Given the description of an element on the screen output the (x, y) to click on. 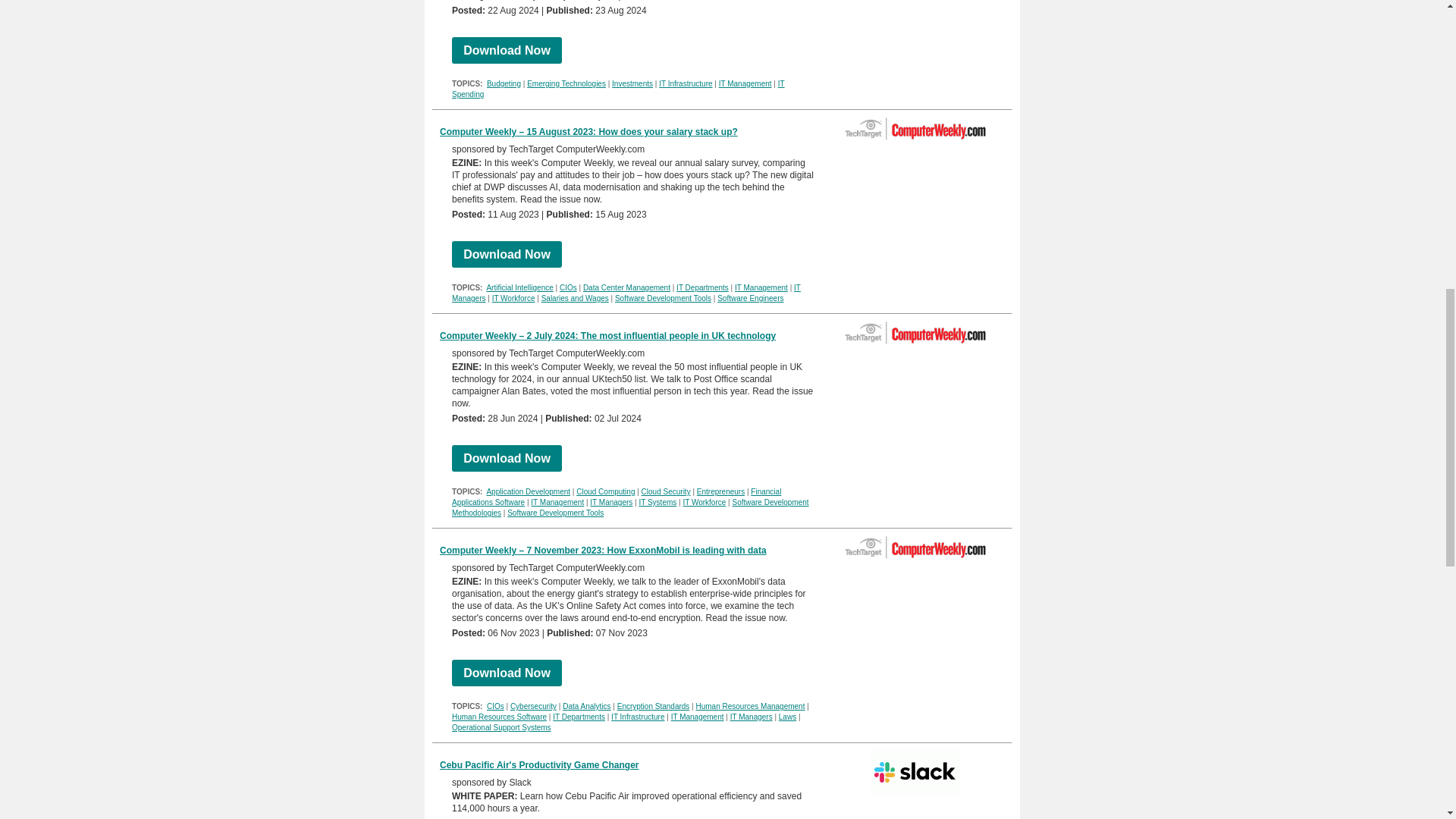
IT Management (745, 83)
Emerging Technologies (566, 83)
Investments (631, 83)
Budgeting (503, 83)
IT Spending (617, 88)
IT Infrastructure (685, 83)
